Given the description of an element on the screen output the (x, y) to click on. 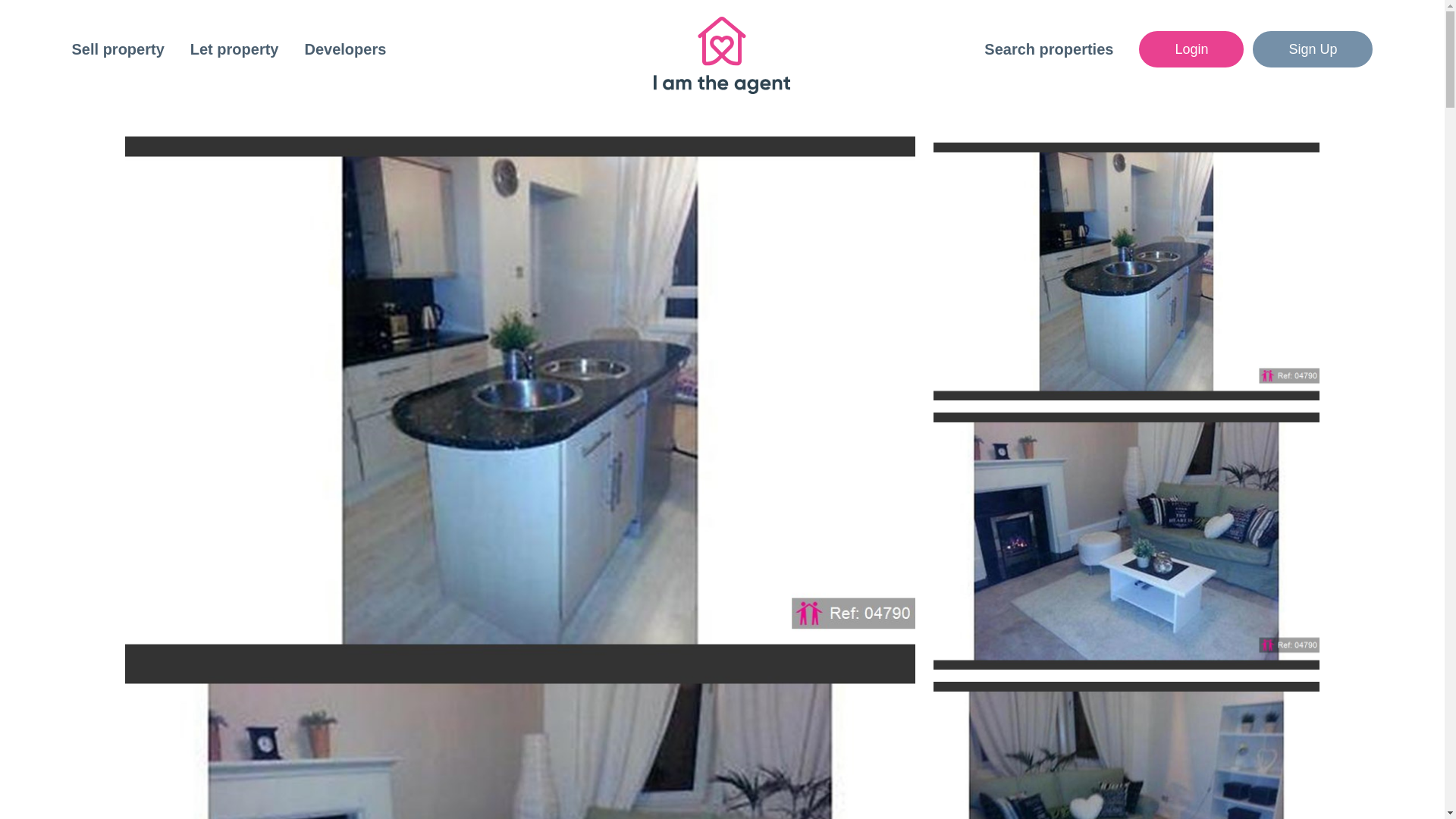
Developers (344, 48)
Sell property (117, 48)
Search properties (1048, 48)
Sign Up (1312, 49)
Login (1190, 49)
Let property (234, 48)
